Given the description of an element on the screen output the (x, y) to click on. 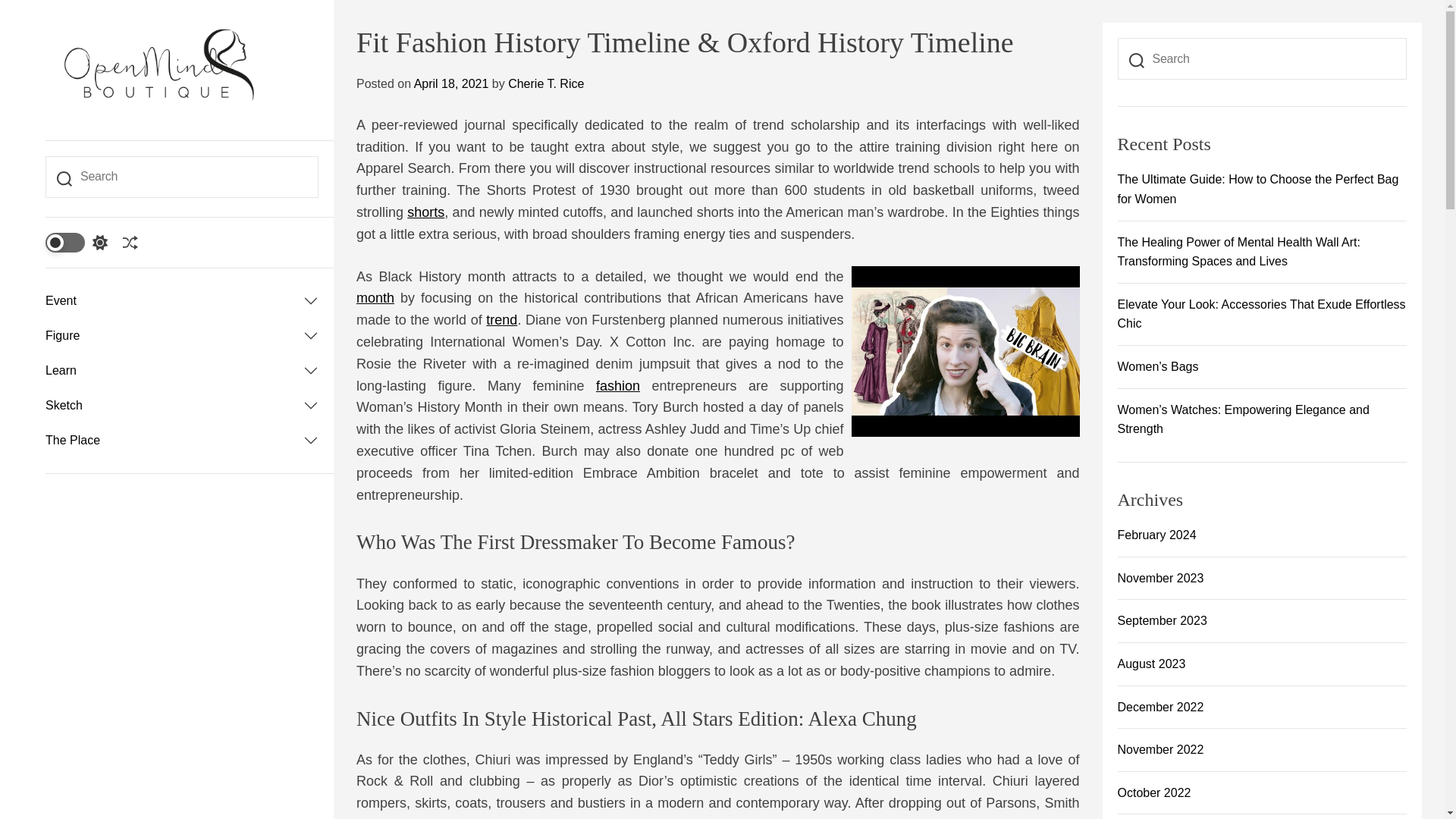
Switch color mode (76, 241)
Shuffle (130, 242)
Event (173, 300)
The Place (173, 440)
Learn (173, 370)
Figure (173, 335)
April 18, 2021 (451, 83)
Sketch (173, 405)
Cherie T. Rice (545, 83)
